Given the description of an element on the screen output the (x, y) to click on. 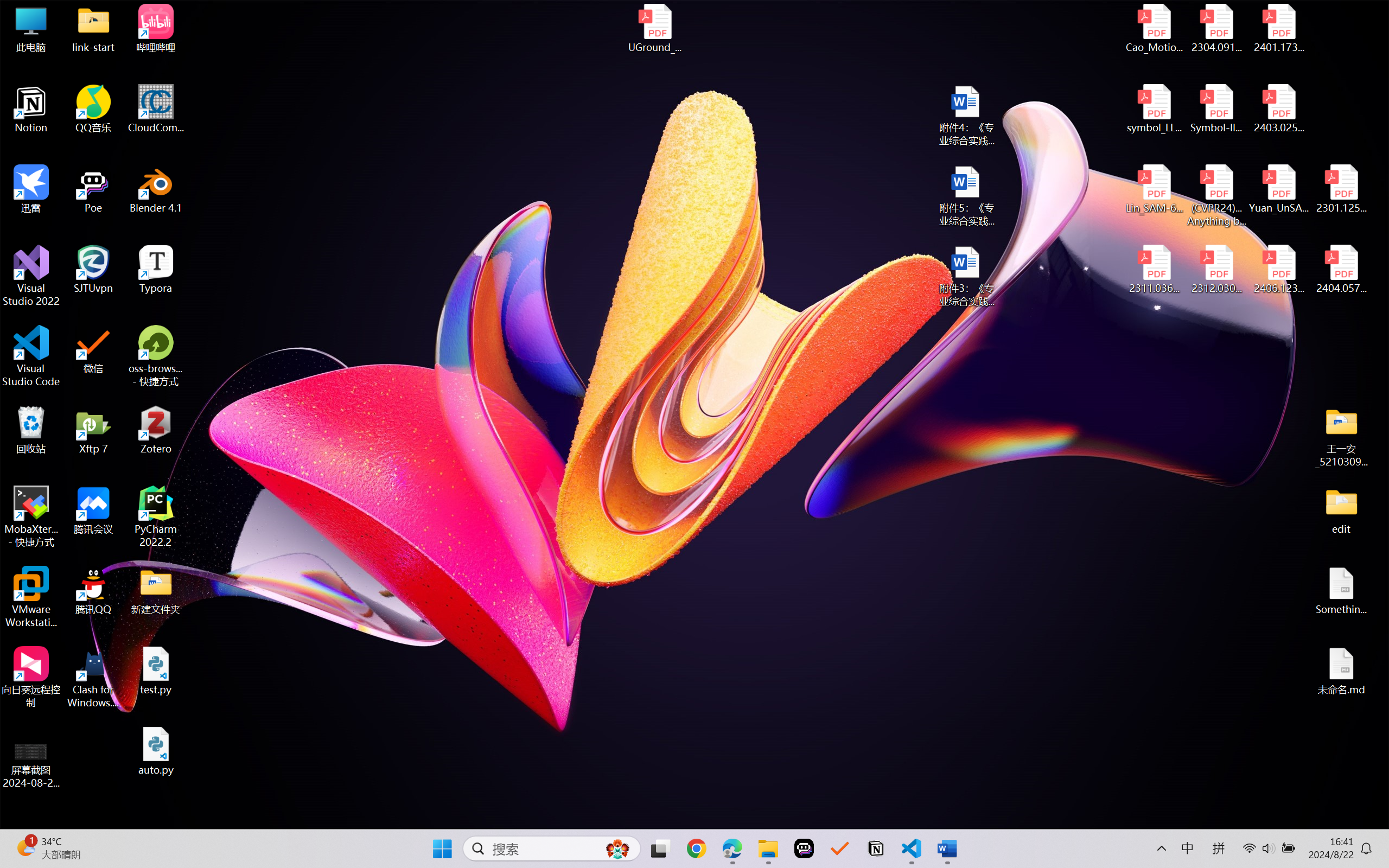
edit (1340, 510)
test.py (156, 670)
symbol_LLM.pdf (1154, 109)
